Given the description of an element on the screen output the (x, y) to click on. 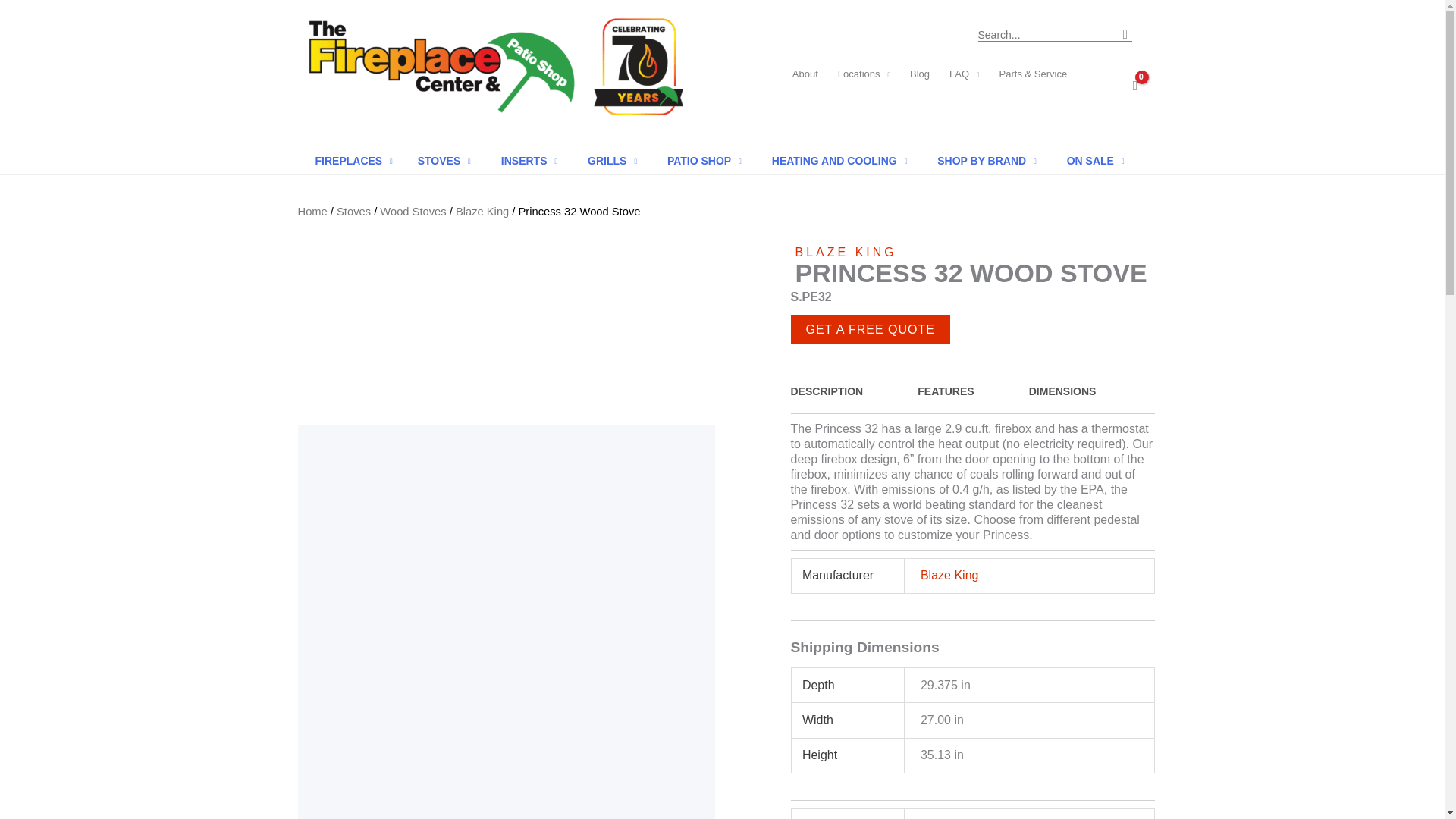
Locations (863, 73)
About (805, 73)
FIREPLACES (352, 160)
FAQ (964, 73)
Blog (919, 73)
